Given the description of an element on the screen output the (x, y) to click on. 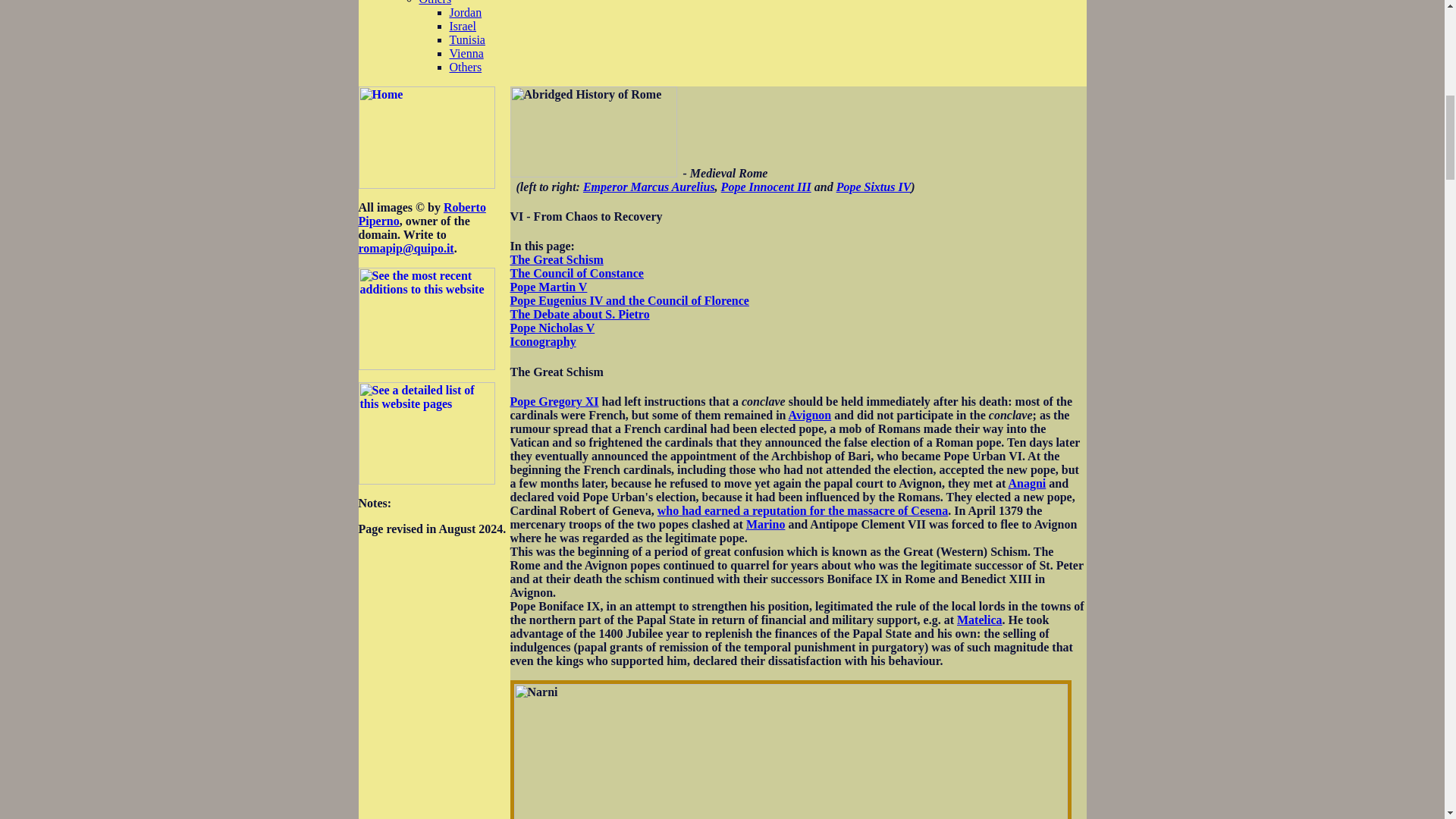
Narni (789, 749)
See a detailed list of this website pages (426, 433)
Home (426, 137)
See the most recent additions to this website (426, 318)
Abridged History of Rome (593, 131)
